Given the description of an element on the screen output the (x, y) to click on. 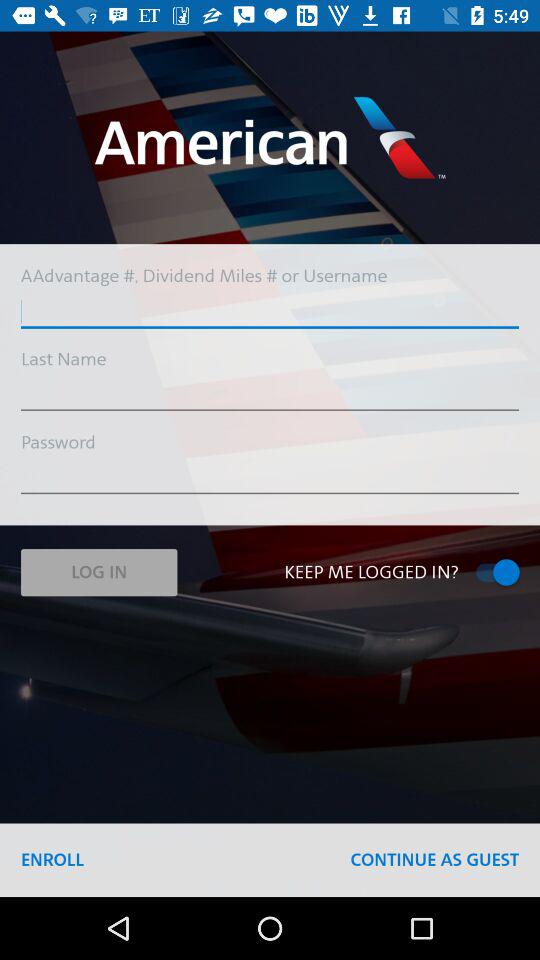
turn off the icon below the last name (269, 395)
